Given the description of an element on the screen output the (x, y) to click on. 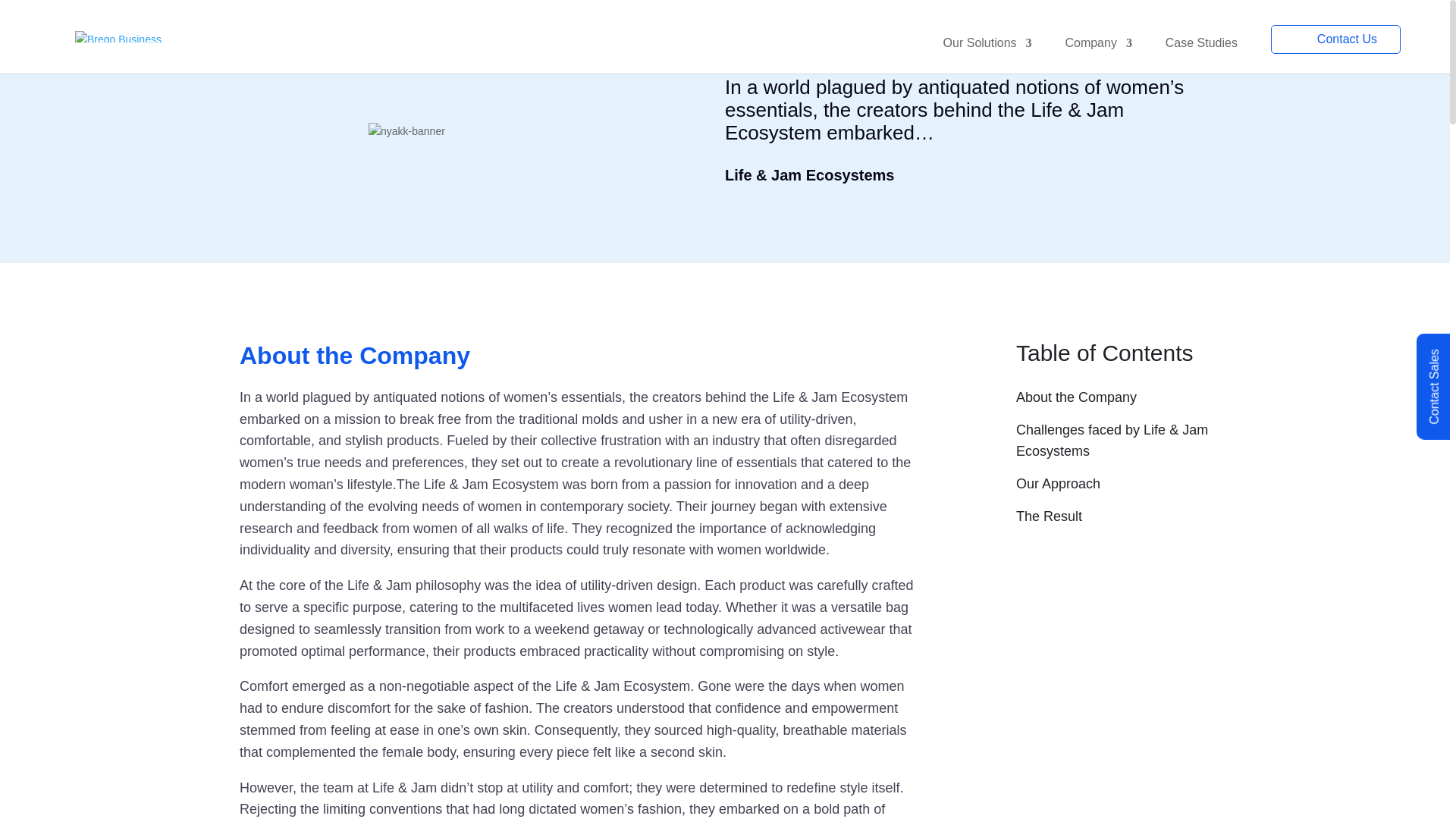
About the Company (1112, 402)
Contact Us (1335, 39)
Company (1097, 55)
Case Studies (1201, 55)
nyakk-banner (481, 131)
Our Approach (1112, 489)
Our Solutions (987, 55)
The Result (1112, 522)
